Given the description of an element on the screen output the (x, y) to click on. 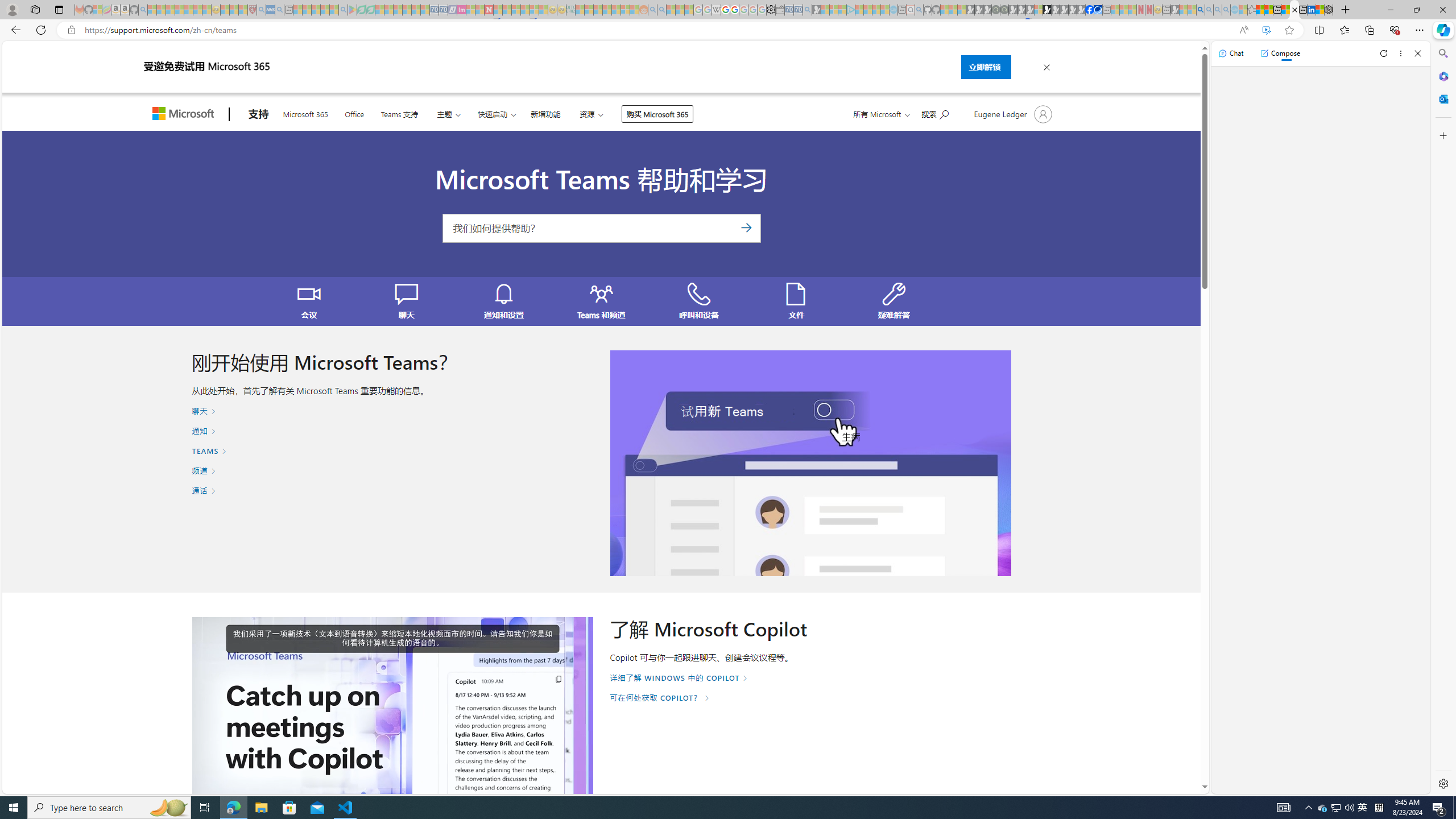
google - Search - Sleeping (342, 9)
14 Common Myths Debunked By Scientific Facts - Sleeping (506, 9)
Favorites (1344, 29)
Collections (1369, 29)
Trusted Community Engagement and Contributions | Guidelines (497, 9)
Utah sues federal government - Search - Sleeping (661, 9)
Cheap Car Rentals - Save70.com - Sleeping (798, 9)
